Given the description of an element on the screen output the (x, y) to click on. 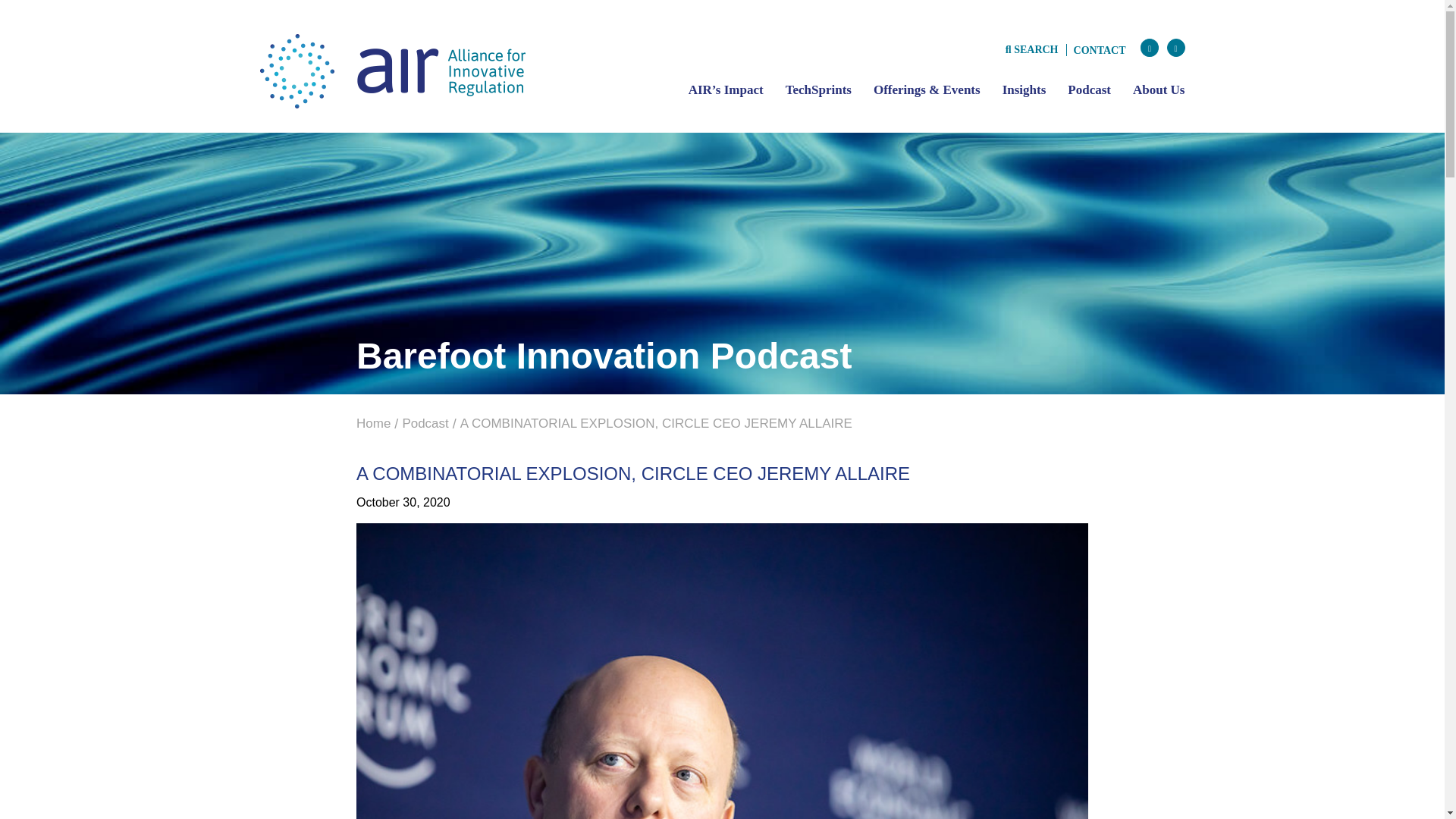
linkedin (1175, 47)
twitter (1149, 47)
SEARCH (1032, 49)
contact (1099, 50)
TechSprints (818, 89)
Podcast (424, 423)
Alliance for Innovative Regulation (391, 70)
CONTACT (1099, 50)
Insights (1024, 89)
Home (373, 423)
